Given the description of an element on the screen output the (x, y) to click on. 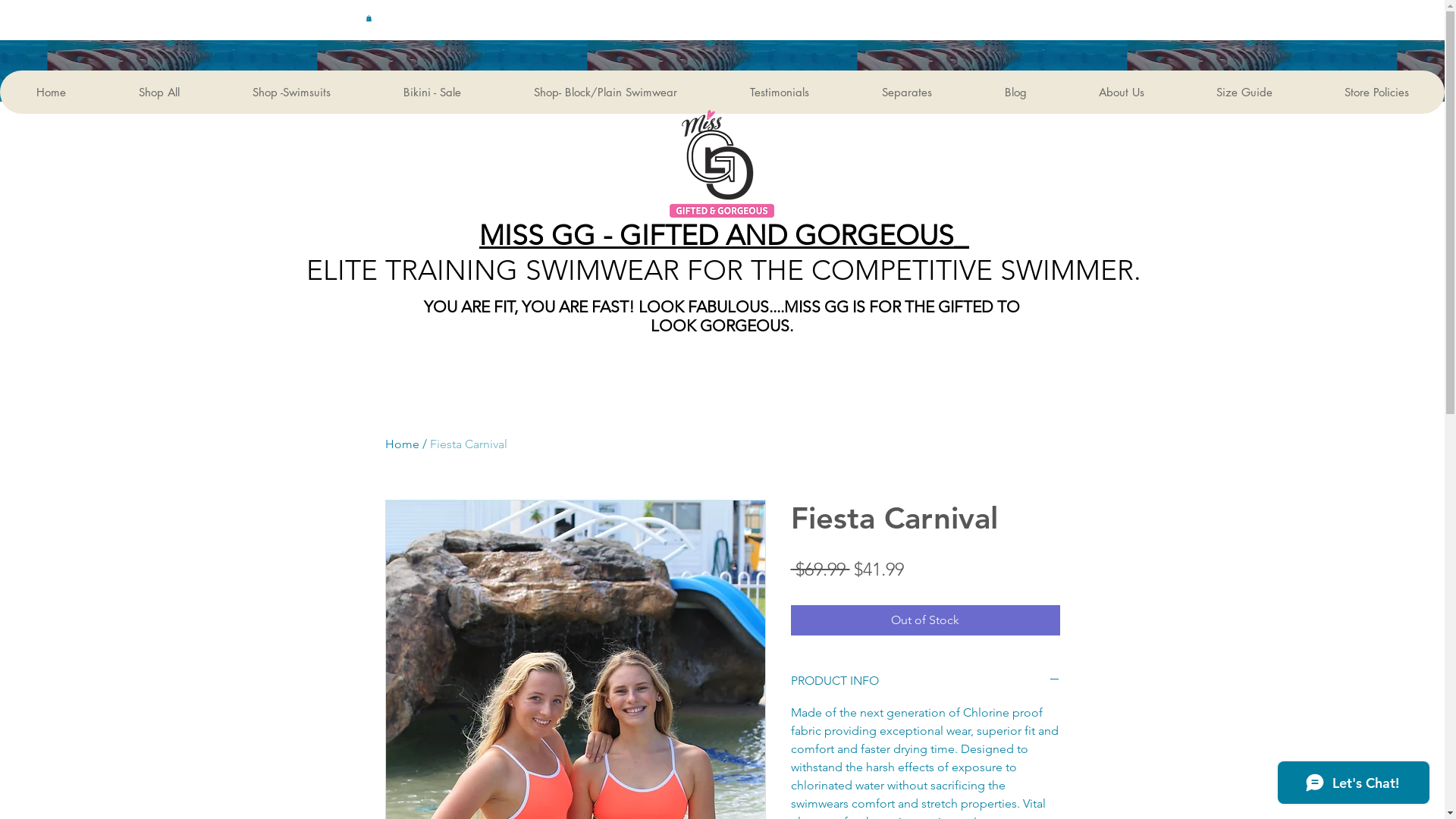
mailbox@missgg.com.au Element type: text (971, 13)
Home Element type: text (50, 91)
Testimonials Element type: text (778, 91)
About Us Element type: text (1120, 91)
Bikini - Sale Element type: text (431, 91)
Separates Element type: text (905, 91)
0 Element type: text (1062, 6)
Store Policies Element type: text (1376, 91)
PRODUCT INFO Element type: text (924, 680)
Home Element type: text (402, 443)
Out of Stock Element type: text (924, 620)
Shop -Swimsuits Element type: text (290, 91)
Blog Element type: text (1014, 91)
Shop All Element type: text (158, 91)
0 Element type: text (367, 18)
Fiesta Carnival Element type: text (467, 443)
Size Guide Element type: text (1243, 91)
Shop- Block/Plain Swimwear Element type: text (604, 91)
